Given the description of an element on the screen output the (x, y) to click on. 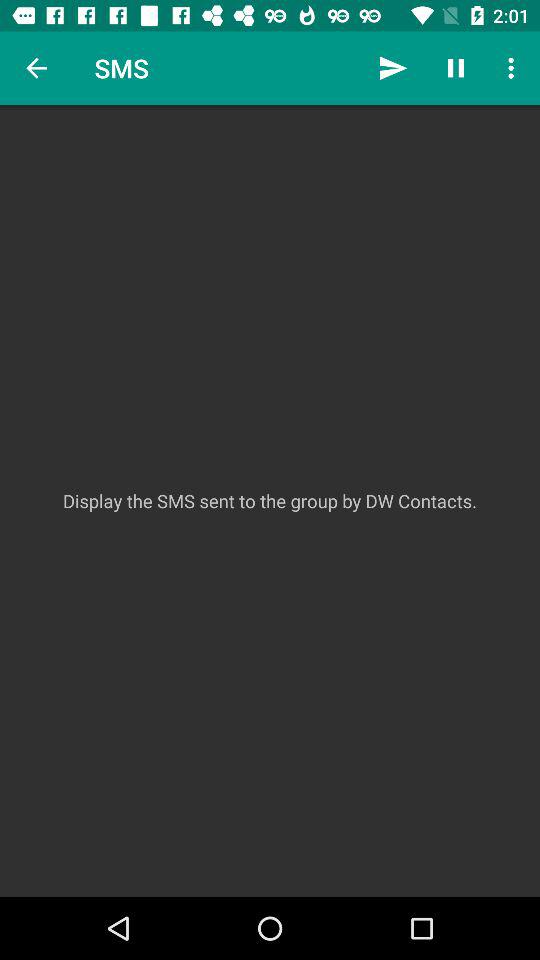
click icon above the display the sms icon (392, 67)
